Given the description of an element on the screen output the (x, y) to click on. 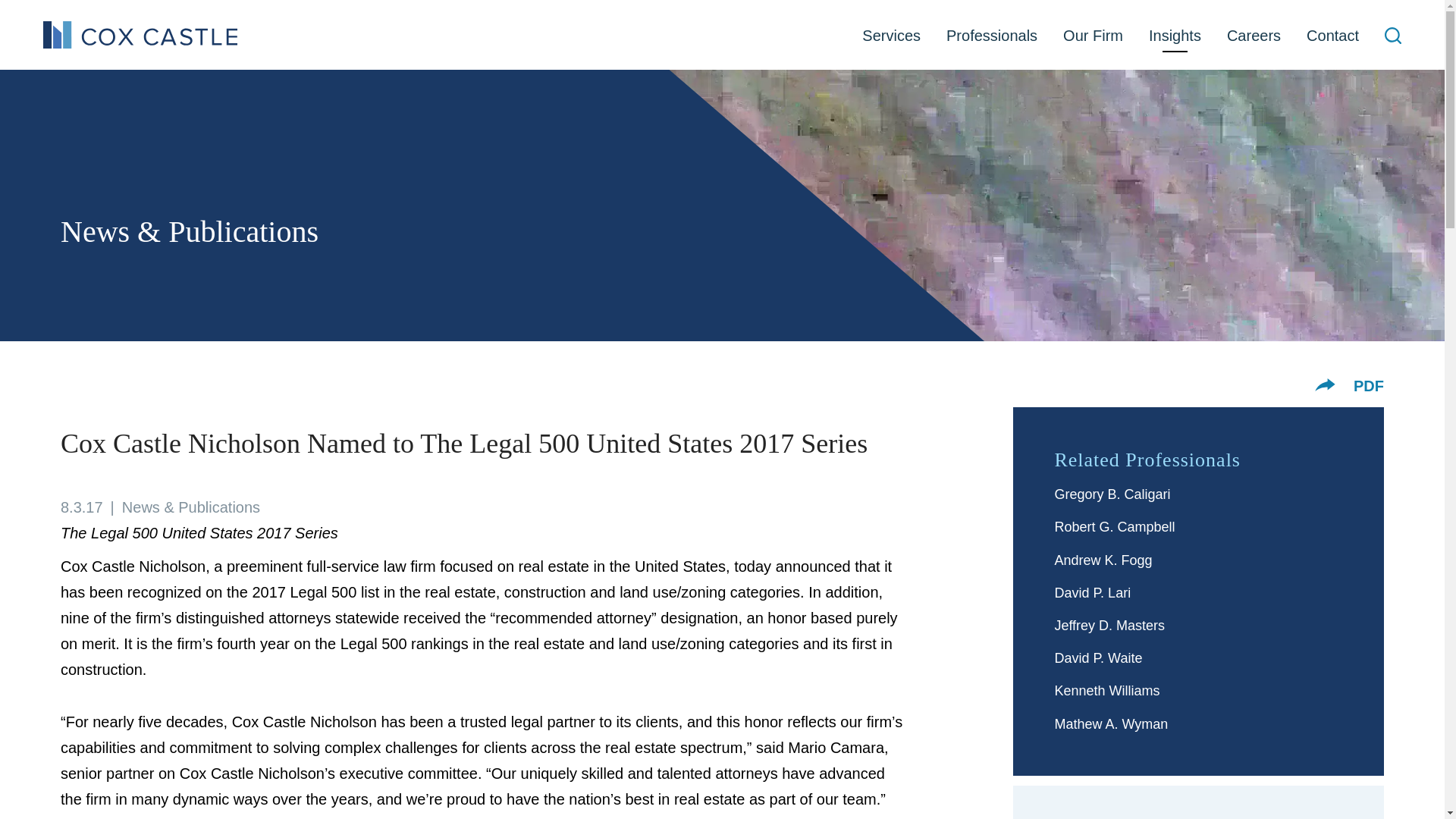
Services (890, 35)
Professionals (991, 35)
Our Firm (1092, 35)
Search (1392, 35)
PDF (1369, 385)
Contact (1332, 35)
Insights (1174, 35)
Share (1324, 384)
Menu (680, 17)
Search (1392, 37)
Main Content (674, 17)
Careers (1254, 35)
Main Menu (680, 17)
